Given the description of an element on the screen output the (x, y) to click on. 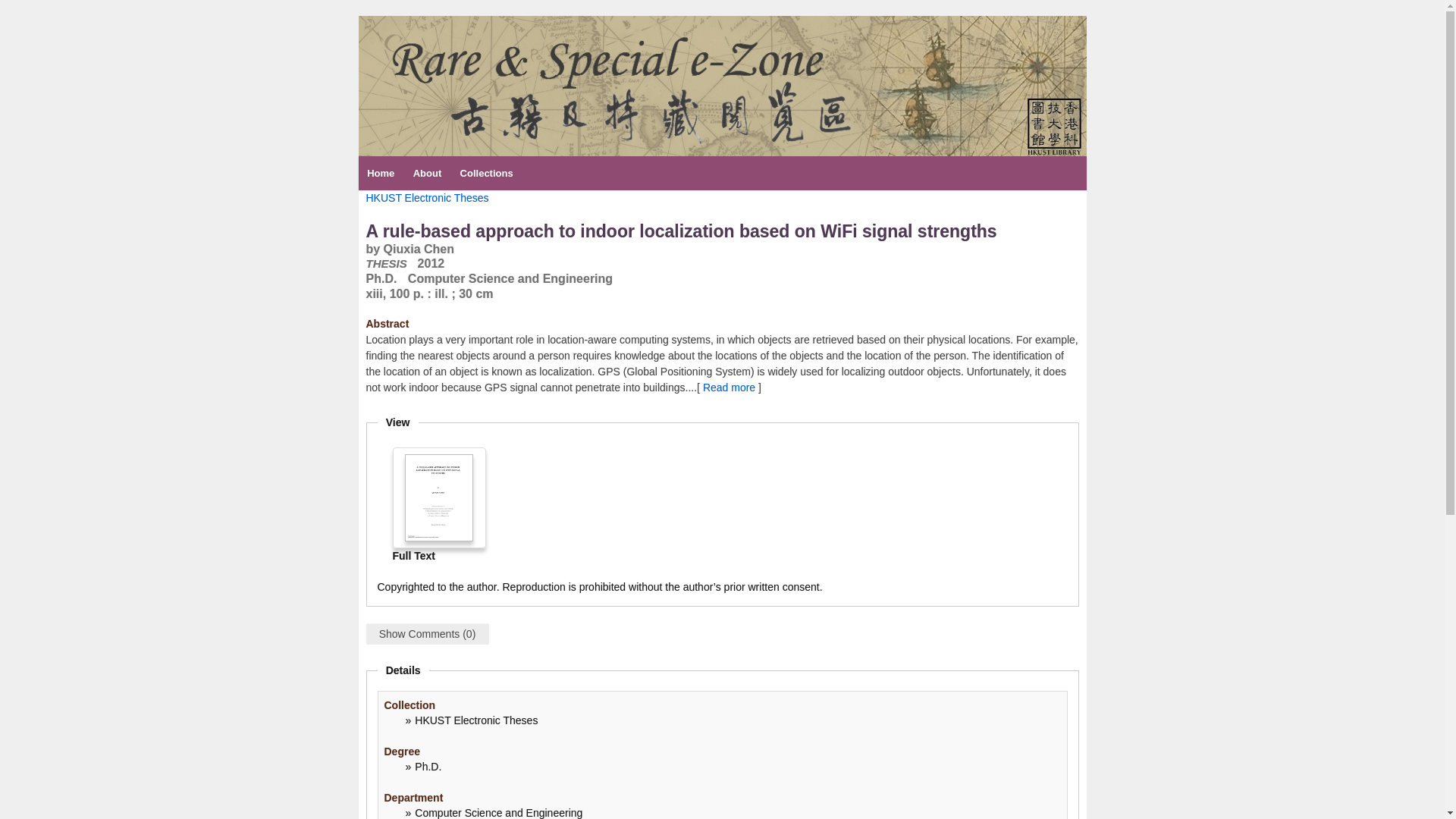
Home (380, 173)
HKUST Electronic Theses (426, 197)
About (426, 173)
Collections (485, 173)
